Given the description of an element on the screen output the (x, y) to click on. 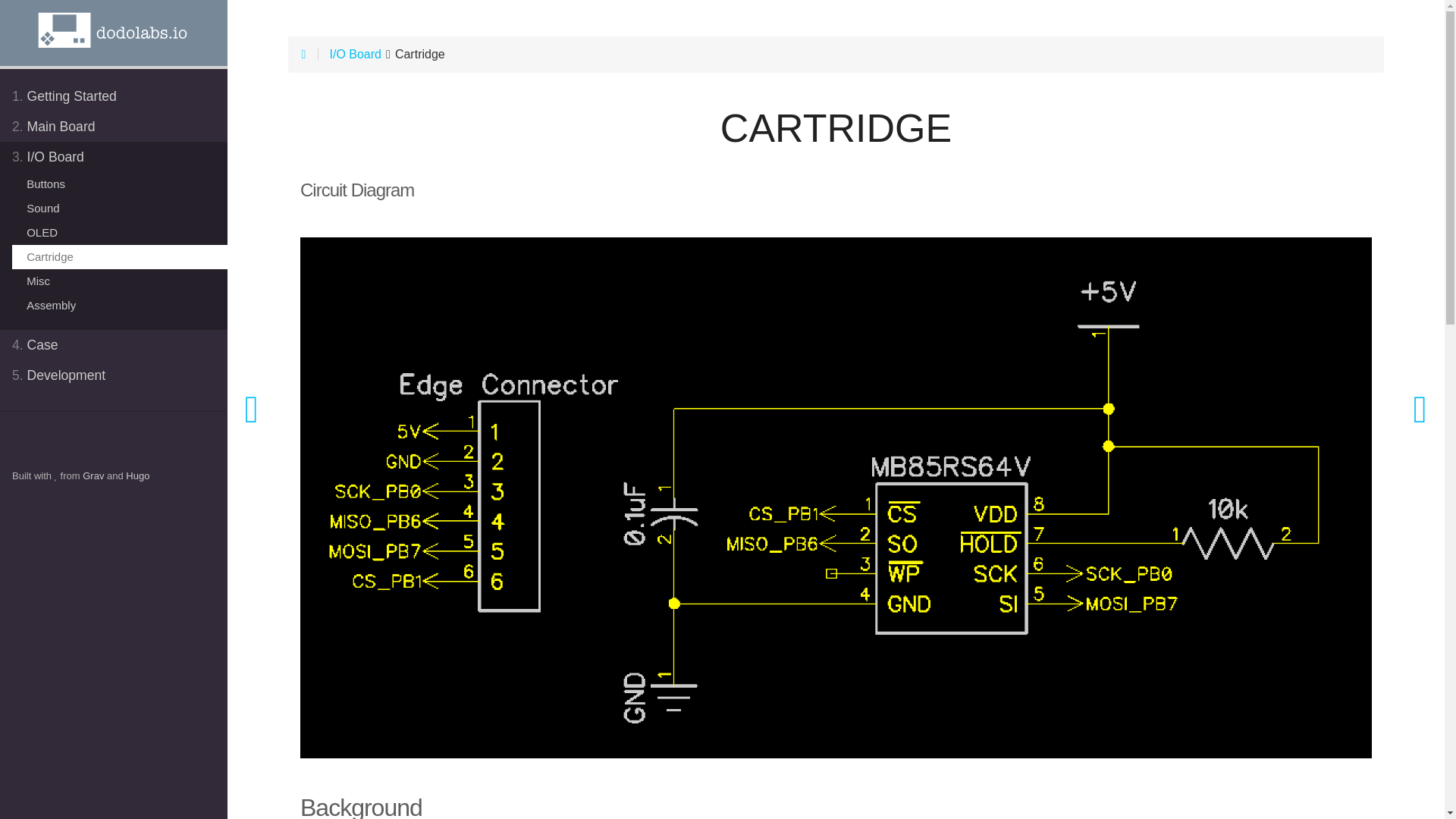
1. Getting Started (113, 96)
Buttons (119, 183)
5. Development (113, 375)
2. Main Board (113, 126)
Misc (119, 281)
4. Case (113, 345)
Sound (119, 208)
Assembly (119, 305)
Cartridge (119, 256)
Grav (92, 475)
Hugo (137, 475)
OLED (119, 232)
